Given the description of an element on the screen output the (x, y) to click on. 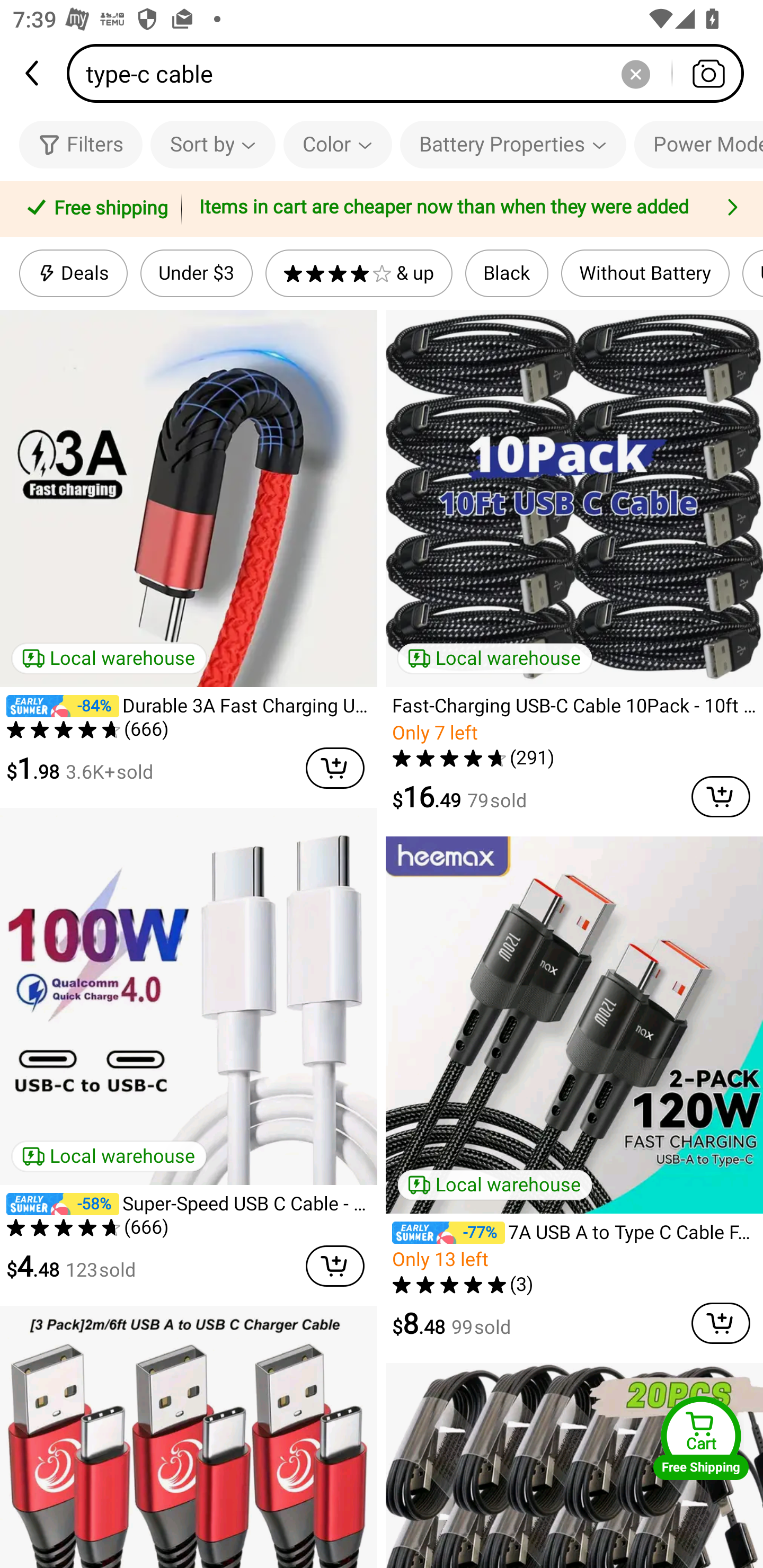
back (33, 72)
type-c cable (411, 73)
Delete search history (635, 73)
Search by photo (708, 73)
Filters (80, 143)
Sort by (212, 143)
Color (337, 143)
Battery Properties (512, 143)
Power Mode (698, 143)
 Free shipping (93, 208)
Deals (73, 273)
Under $3 (196, 273)
& up (358, 273)
Black (506, 273)
Without Battery (644, 273)
Cart Free Shipping Cart (701, 1437)
